Given the description of an element on the screen output the (x, y) to click on. 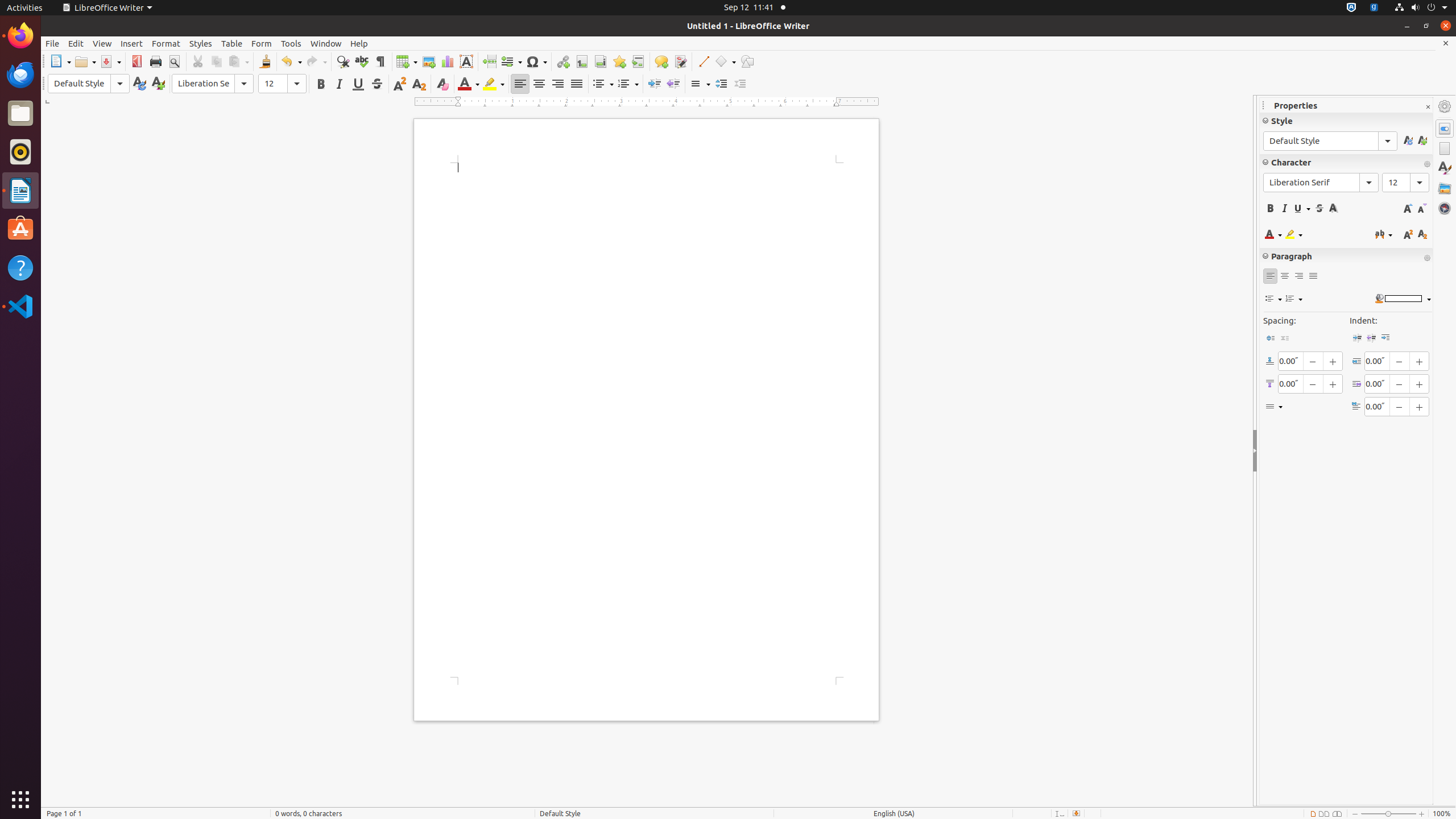
New Element type: push-button (157, 83)
Highlight Color Element type: push-button (493, 83)
Line Spacing Element type: push-button (699, 83)
:1.72/StatusNotifierItem Element type: menu (1350, 7)
Basic Shapes Element type: push-button (724, 61)
